Given the description of an element on the screen output the (x, y) to click on. 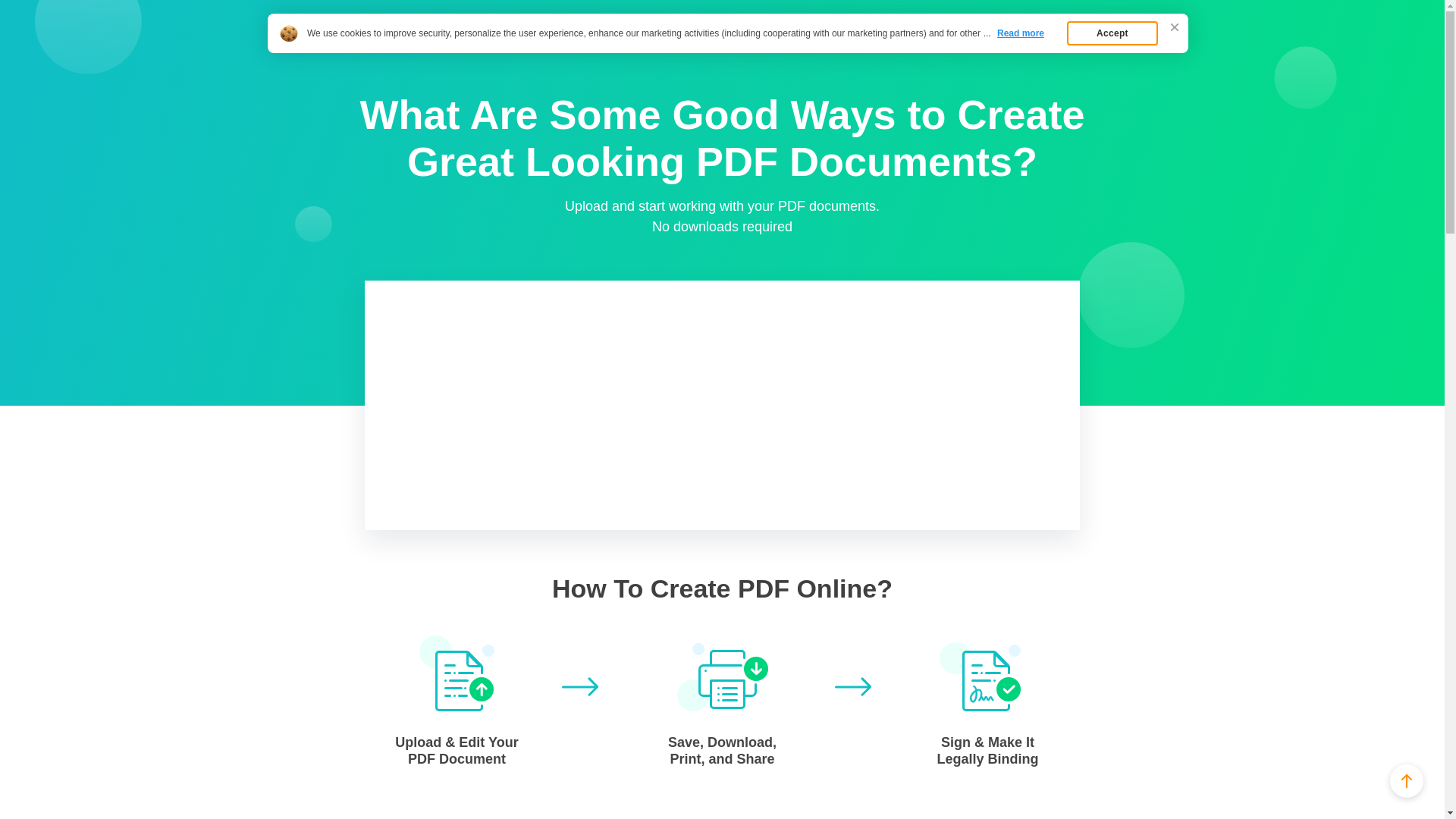
Create Fillable PDF (409, 21)
Scroll Up (1406, 780)
Home (361, 46)
FAQ (398, 46)
